Given the description of an element on the screen output the (x, y) to click on. 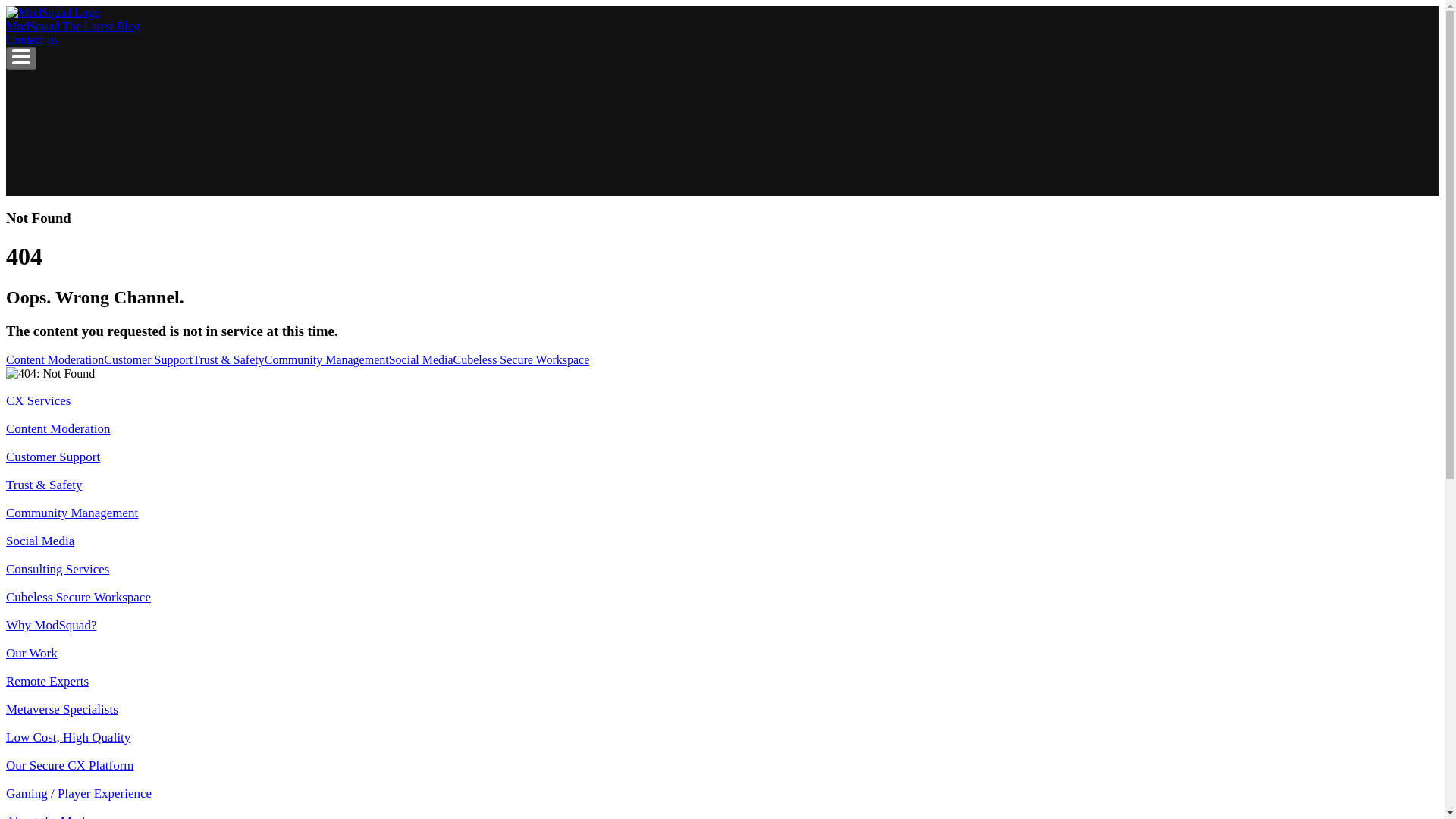
About the Mods (47, 816)
Community Management (71, 513)
Community Management (326, 359)
Content Moderation (57, 428)
Our Work (31, 653)
Content Moderation (54, 359)
Customer Support (147, 359)
Remote Experts (46, 681)
Cubeless Secure Workspace (78, 596)
Consulting Services (57, 568)
